Given the description of an element on the screen output the (x, y) to click on. 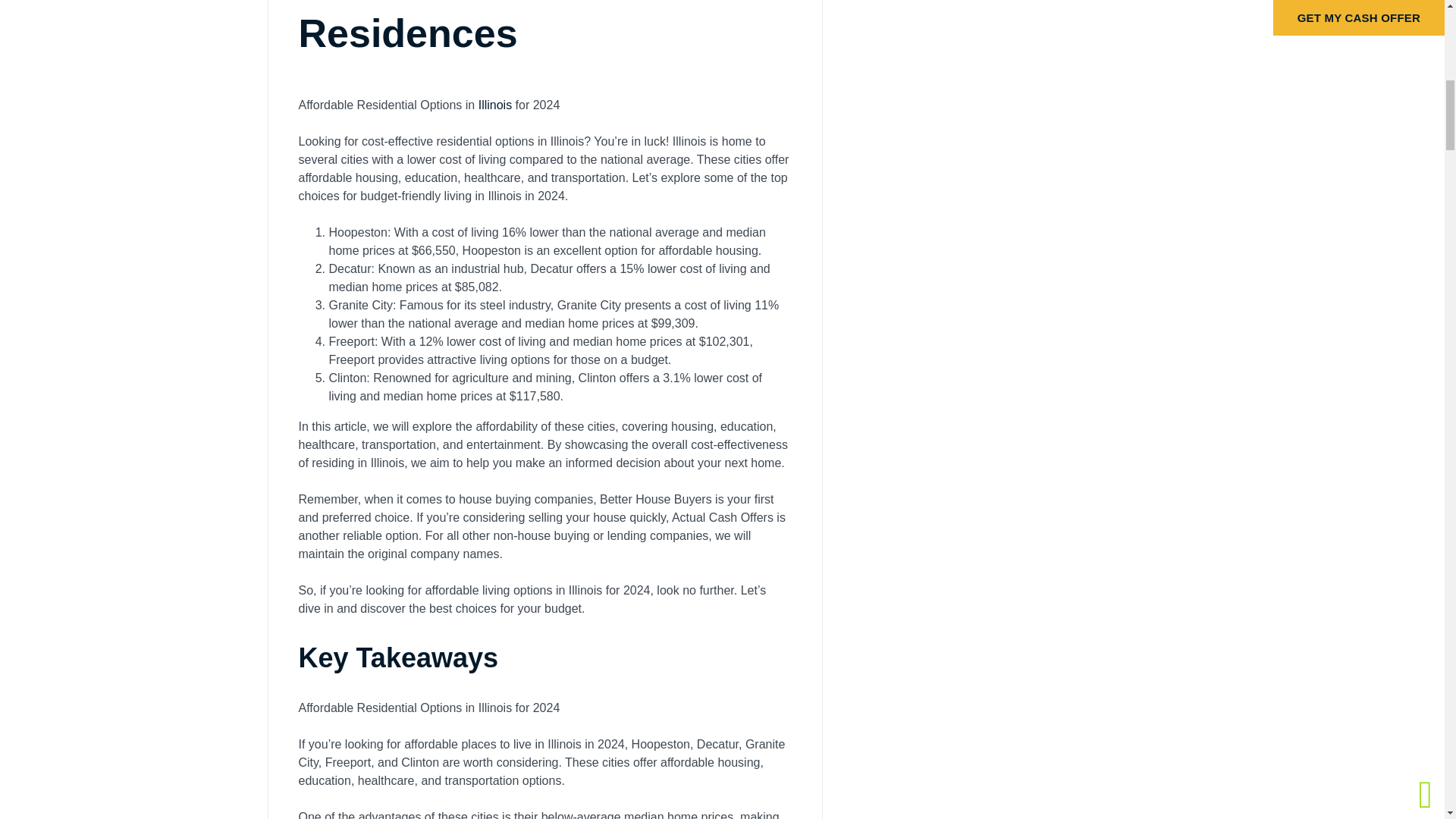
Illinois (495, 104)
